Given the description of an element on the screen output the (x, y) to click on. 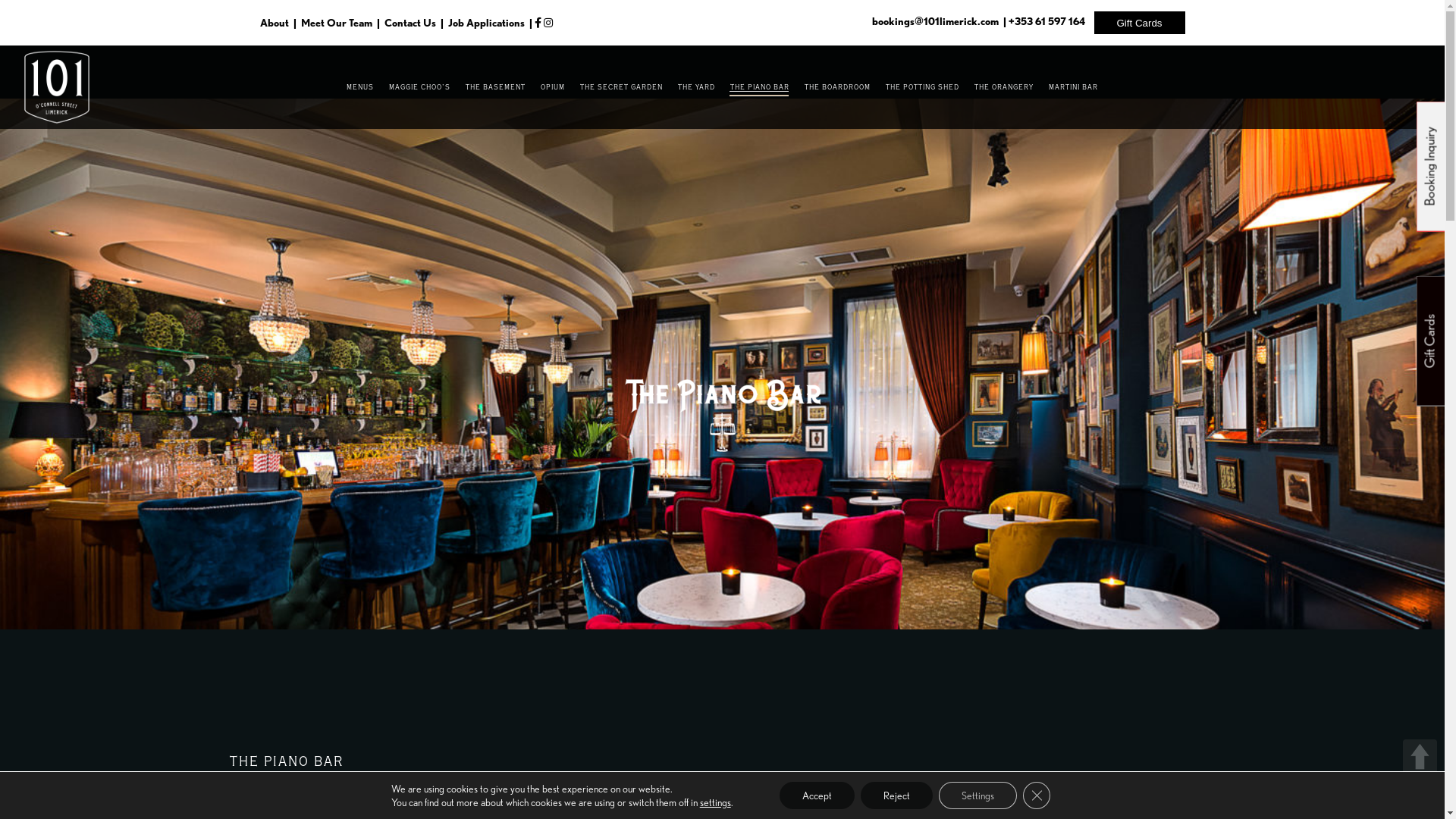
THE ORANGERY Element type: text (1003, 87)
OPIUM Element type: text (552, 87)
UP Element type: text (1419, 756)
Contact Us Element type: text (409, 22)
DOWN Element type: text (1419, 794)
MENUS Element type: text (359, 87)
Job Applications Element type: text (485, 22)
Settings Element type: text (977, 795)
THE BOARDROOM Element type: text (837, 87)
THE PIANO BAR Element type: text (759, 87)
THE YARD Element type: text (696, 87)
THE BASEMENT Element type: text (495, 87)
Gift Cards Element type: text (1138, 22)
Gift Cards Element type: text (1138, 21)
THE SECRET GARDEN Element type: text (621, 87)
THE POTTING SHED Element type: text (922, 87)
Meet Our Team Element type: text (335, 22)
Close GDPR Cookie Banner Element type: text (1036, 795)
Reject Element type: text (896, 795)
About Element type: text (274, 22)
Accept Element type: text (816, 795)
MARTINI BAR Element type: text (1073, 87)
